Given the description of an element on the screen output the (x, y) to click on. 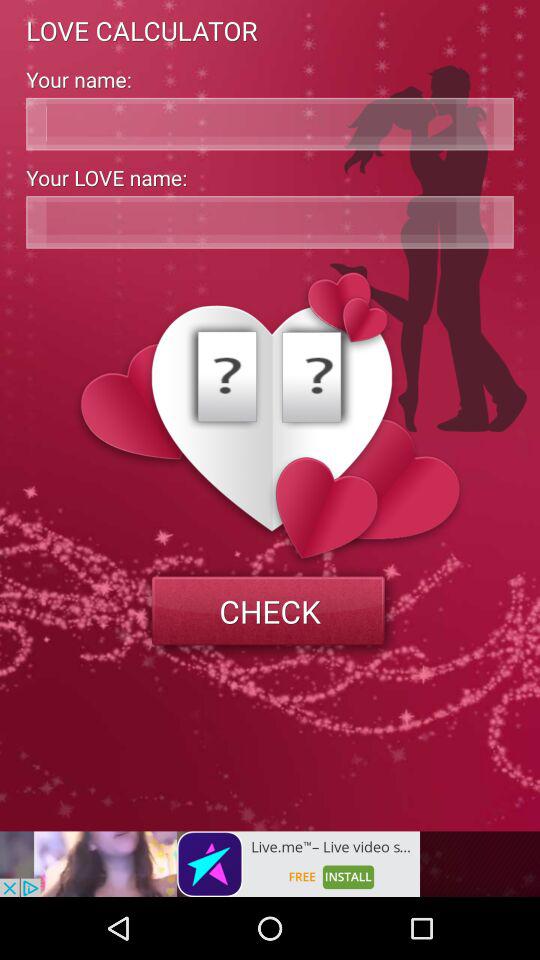
love name (269, 222)
